Given the description of an element on the screen output the (x, y) to click on. 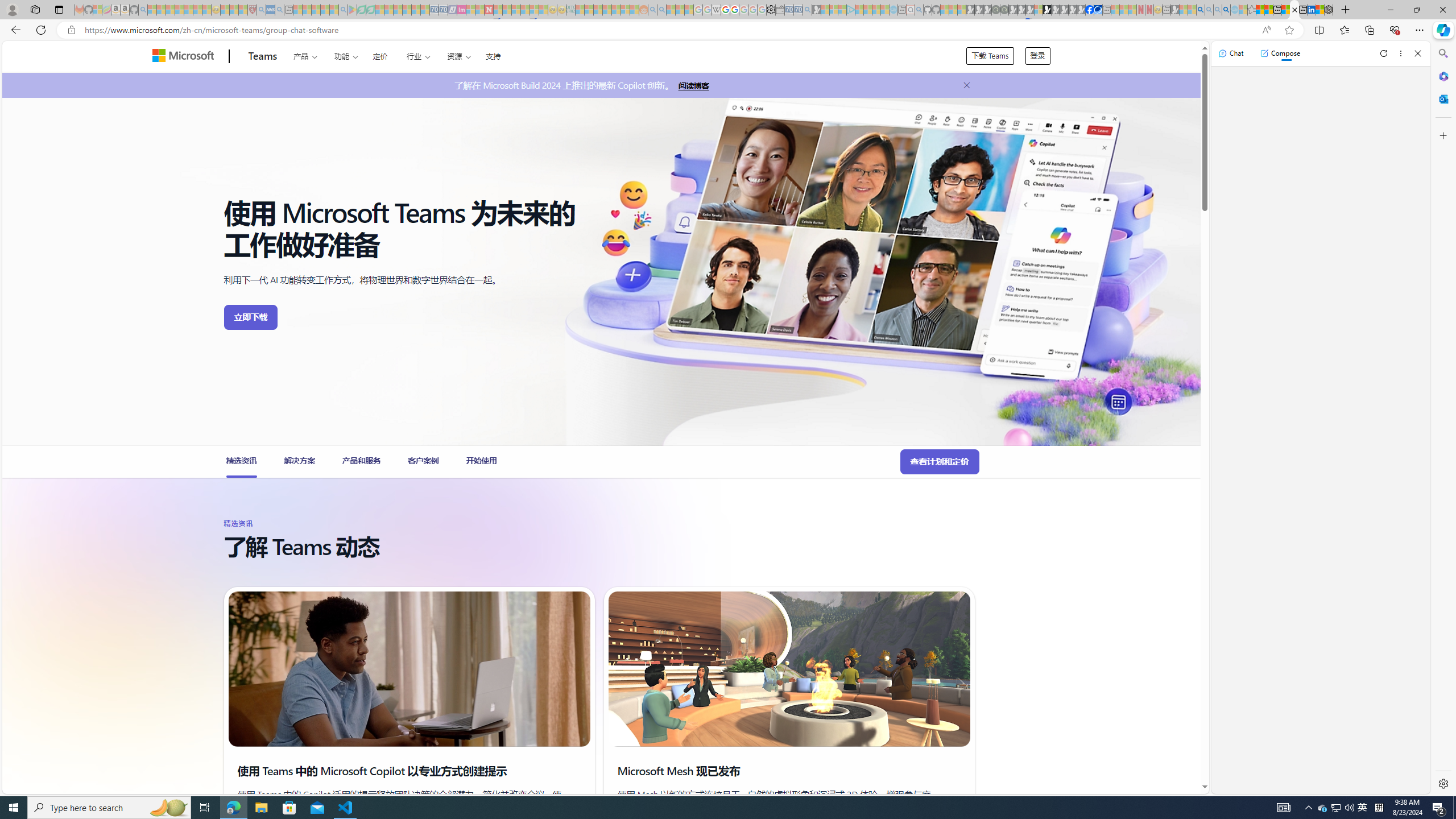
Microsoft Start Gaming - Sleeping (815, 9)
New Report Confirms 2023 Was Record Hot | Watch - Sleeping (188, 9)
DITOGAMES AG Imprint - Sleeping (570, 9)
